Given the description of an element on the screen output the (x, y) to click on. 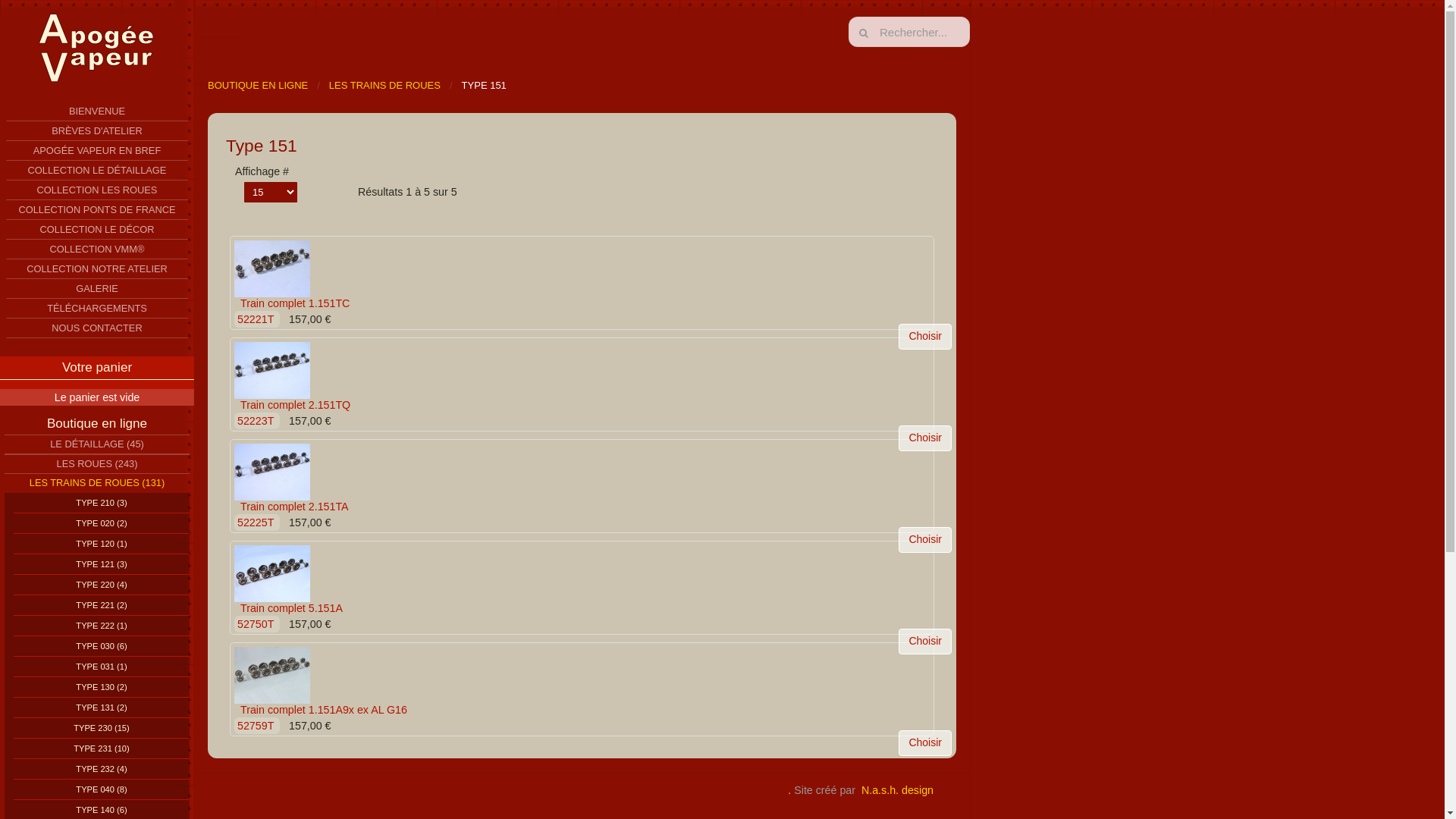
52750T Element type: text (256, 623)
Train complet 2.151TA Element type: hover (272, 470)
TYPE 221 (2) Element type: text (101, 605)
TYPE 121 (3) Element type: text (101, 564)
COLLECTION NOTRE ATELIER Element type: text (97, 269)
N.a.s.h. design Element type: text (897, 790)
LES TRAINS DE ROUES (131) Element type: text (96, 482)
Choisir Element type: text (924, 743)
Train complet 1.151A9x ex AL G16 Element type: hover (272, 674)
NOUS CONTACTER Element type: text (97, 328)
Train complet 1.151TC Element type: hover (272, 267)
Train complet 2.151TA Element type: hover (272, 471)
52759T Element type: text (256, 725)
Train complet 2.151TA Element type: text (294, 506)
Train complet 5.151A Element type: hover (272, 573)
COLLECTION LES ROUES Element type: text (97, 190)
Train complet 1.151TC Element type: hover (272, 268)
Train complet 1.151A9x ex AL G16 Element type: text (323, 709)
TYPE 020 (2) Element type: text (101, 523)
Train complet 1.151TC Element type: text (294, 303)
TYPE 230 (15) Element type: text (101, 728)
TYPE 131 (2) Element type: text (101, 707)
Train complet 5.151A Element type: text (291, 608)
Choisir Element type: text (924, 336)
Choisir Element type: text (924, 438)
TYPE 210 (3) Element type: text (101, 502)
52221T Element type: text (256, 318)
Train complet 2.151TQ Element type: text (295, 404)
LES TRAINS DE ROUES Element type: text (384, 85)
TYPE 130 (2) Element type: text (101, 687)
TYPE 222 (1) Element type: text (101, 625)
Choisir Element type: text (924, 641)
BIENVENUE Element type: text (97, 111)
TYPE 031 (1) Element type: text (101, 666)
Train complet 5.151A Element type: hover (272, 572)
52223T Element type: text (256, 420)
LES ROUES (243) Element type: text (96, 464)
TYPE 220 (4) Element type: text (101, 584)
TYPE 120 (1) Element type: text (101, 543)
TYPE 232 (4) Element type: text (101, 769)
COLLECTION PONTS DE FRANCE Element type: text (97, 209)
52225T Element type: text (256, 522)
Train complet 2.151TQ Element type: hover (272, 370)
TYPE 040 (8) Element type: text (101, 789)
GALERIE Element type: text (97, 288)
. Element type: text (788, 790)
Choisir Element type: text (924, 539)
Train complet 2.151TQ Element type: hover (272, 369)
Train complet 1.151A9x ex AL G16 Element type: hover (272, 674)
TYPE 231 (10) Element type: text (101, 748)
BOUTIQUE EN LIGNE Element type: text (257, 85)
TYPE 030 (6) Element type: text (101, 646)
